Given the description of an element on the screen output the (x, y) to click on. 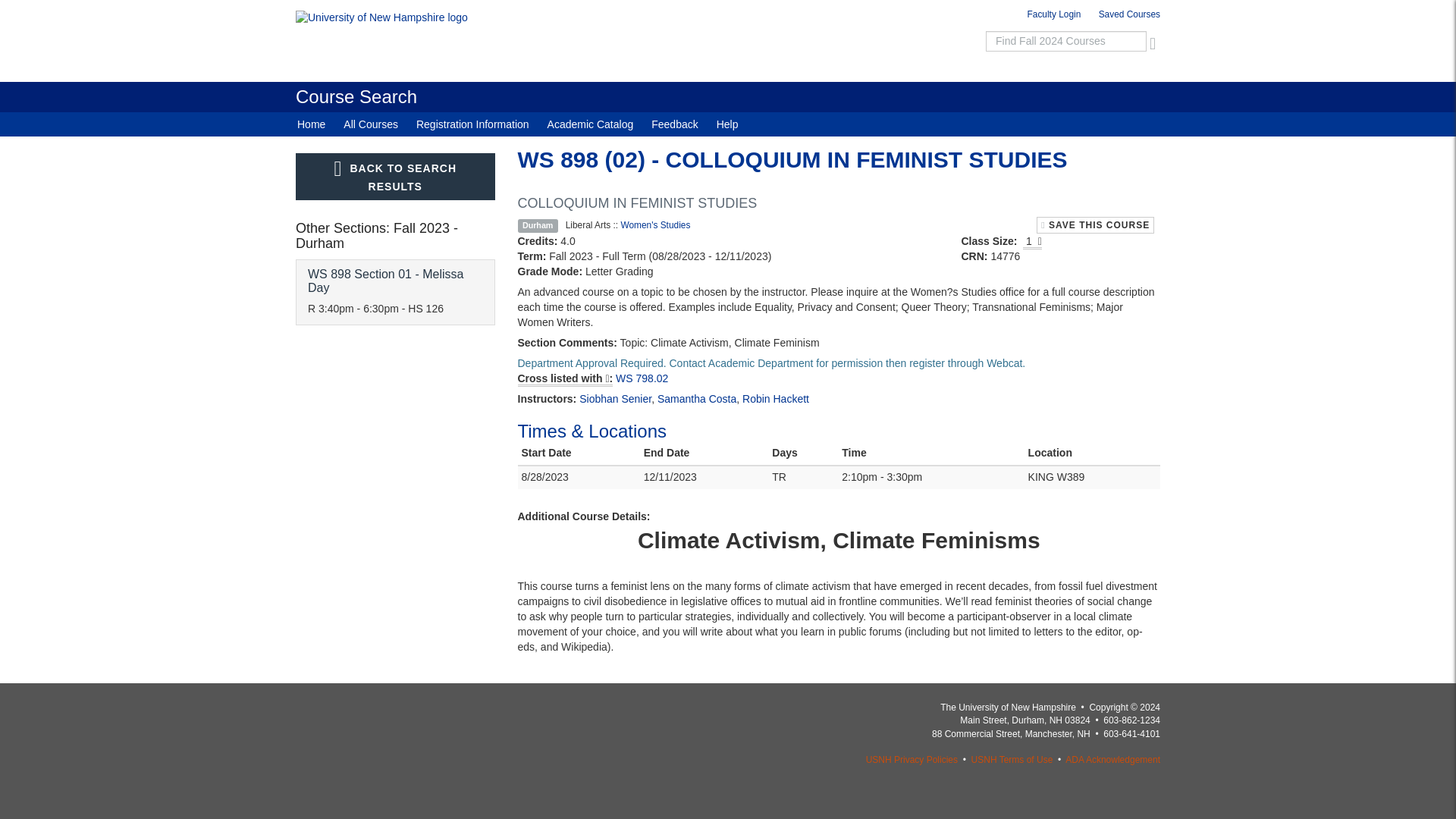
USNH Privacy Policies (912, 759)
Durham (395, 291)
Saved Courses (536, 225)
Course Search (1125, 16)
All Courses (355, 96)
WS 798.02 (370, 124)
SAVE THIS COURSE (641, 378)
ADA Acknowledgement (1095, 225)
  BACK TO SEARCH RESULTS (1112, 759)
